Given the description of an element on the screen output the (x, y) to click on. 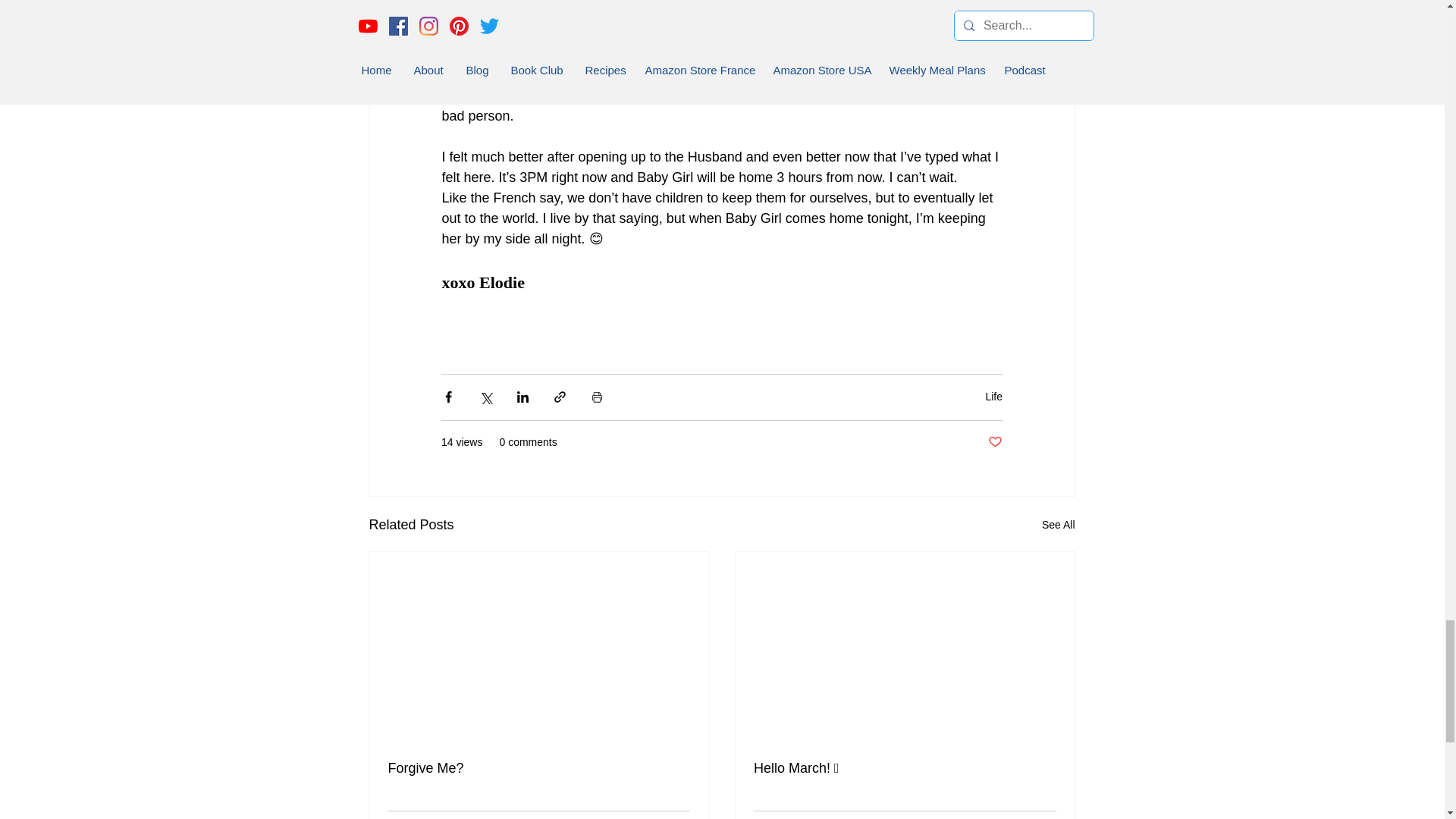
See All (1058, 525)
Post not marked as liked (995, 442)
Life (994, 396)
